Given the description of an element on the screen output the (x, y) to click on. 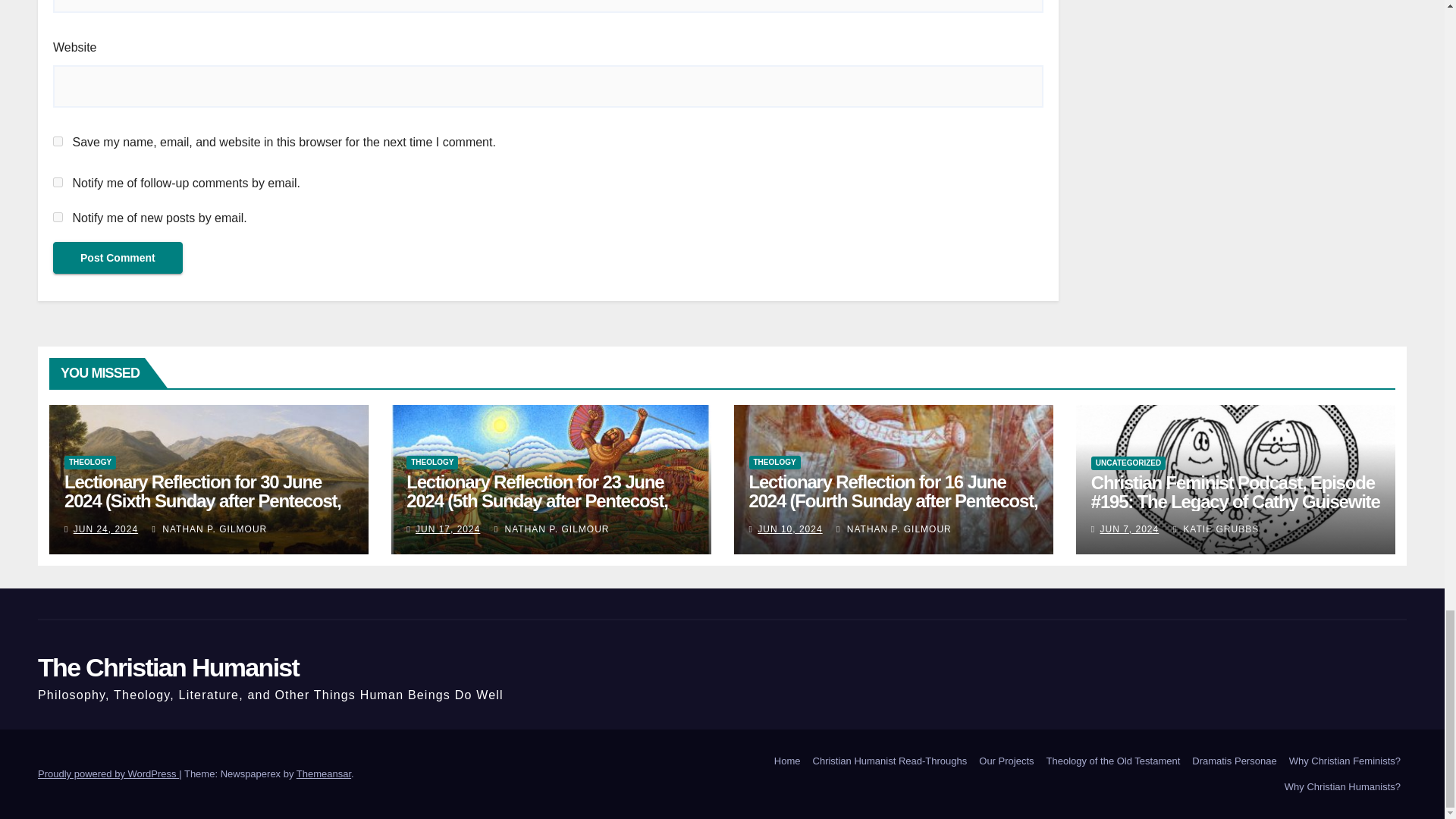
yes (57, 141)
subscribe (57, 216)
subscribe (57, 182)
Post Comment (117, 257)
